Given the description of an element on the screen output the (x, y) to click on. 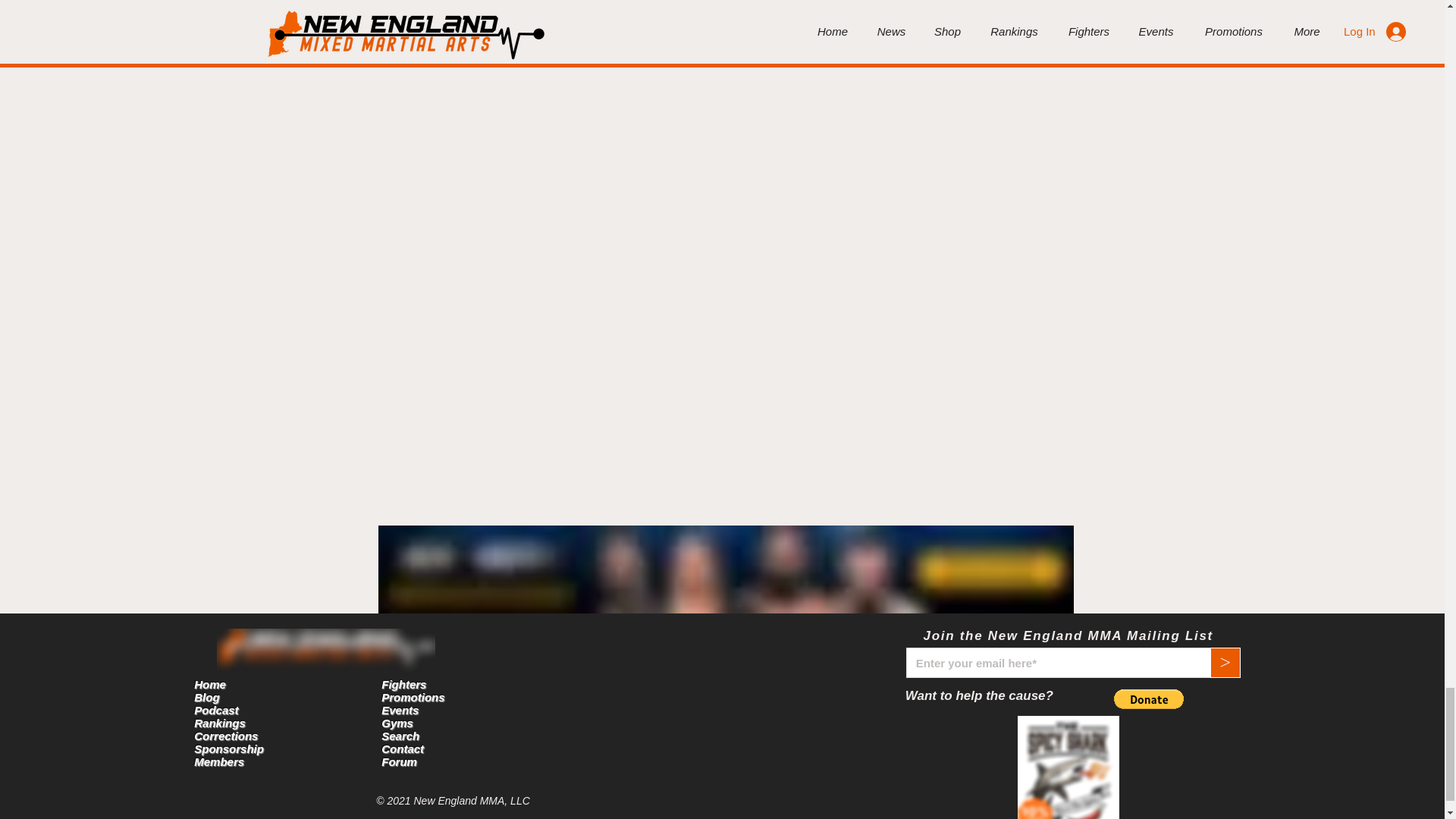
Home (209, 684)
Members (218, 761)
Blog (206, 697)
Forum (398, 761)
Rankings (219, 722)
Podcast (215, 709)
Fighters (403, 684)
Contact (402, 748)
Sponsorship (228, 748)
Search (400, 735)
Gyms (397, 722)
Corrections (225, 735)
Events (400, 709)
Promotions (412, 697)
